Given the description of an element on the screen output the (x, y) to click on. 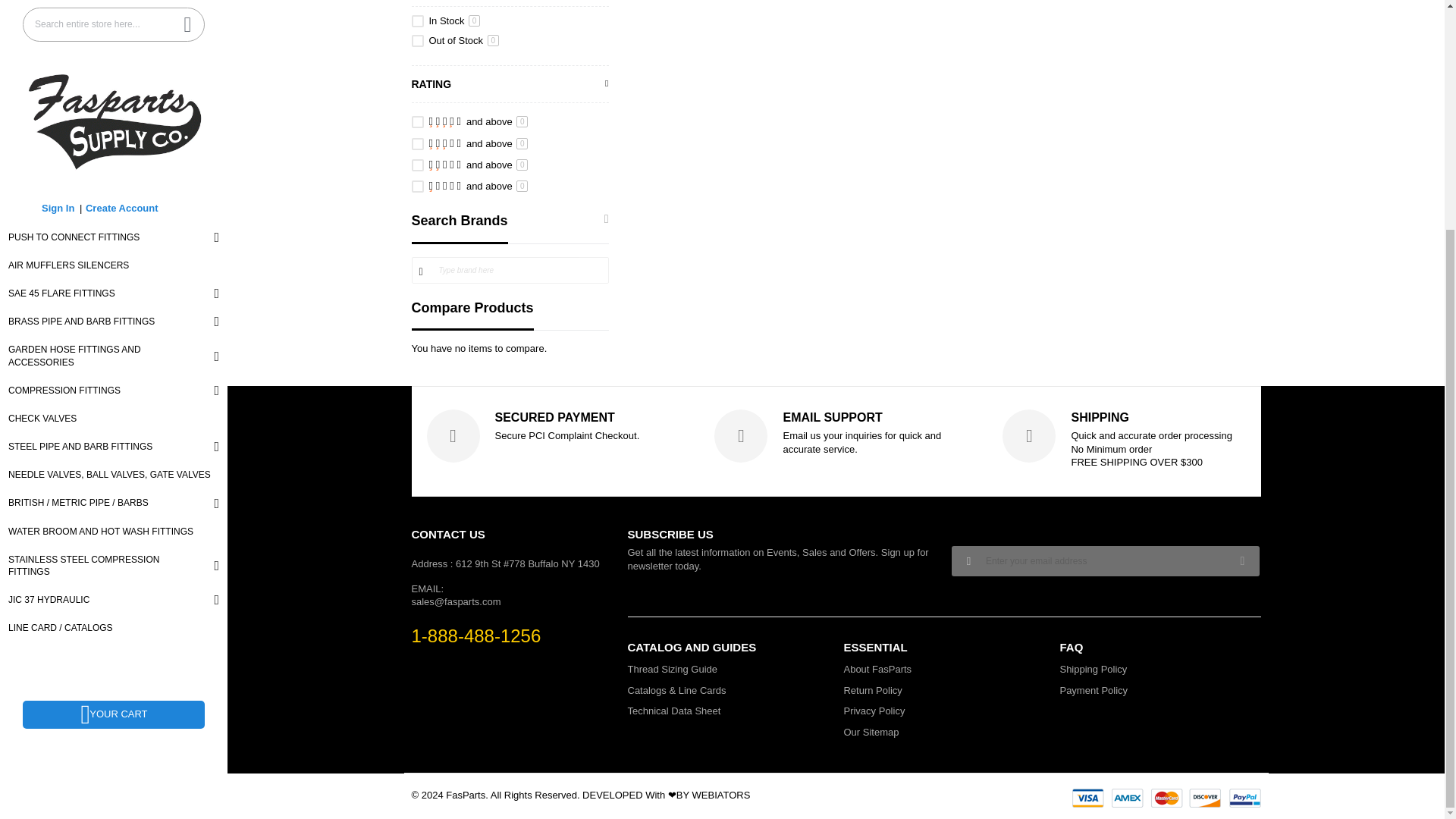
3 (416, 143)
2 stars and above (478, 164)
1 star and above (478, 185)
4 (416, 121)
1 (416, 21)
4 stars and above (478, 121)
0 (416, 40)
3 stars and above (478, 143)
2 (416, 164)
1 (416, 186)
